Given the description of an element on the screen output the (x, y) to click on. 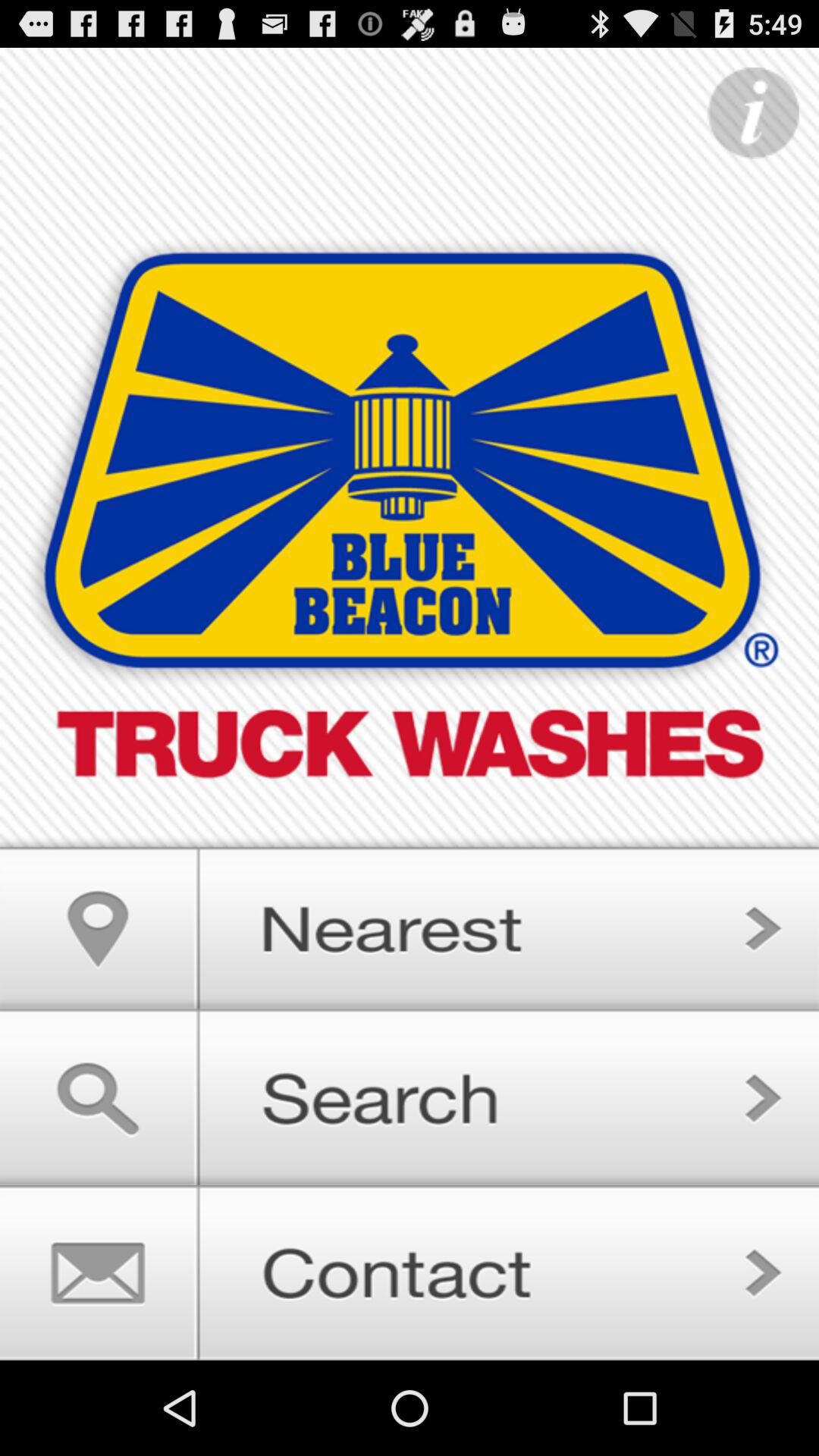
go to search engine within the app (409, 1097)
